Given the description of an element on the screen output the (x, y) to click on. 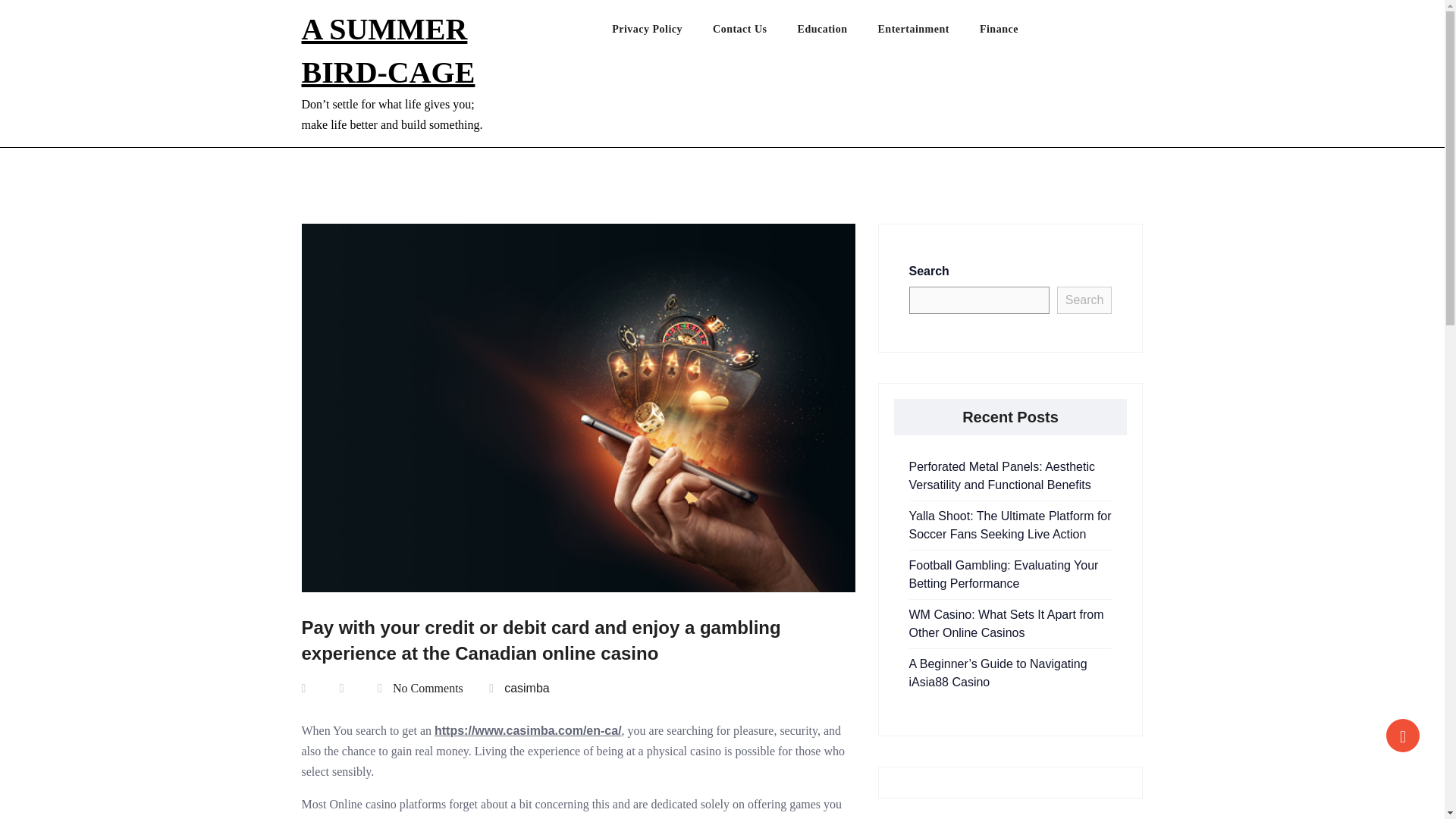
Entertainment (928, 32)
Search (1084, 299)
casimba (526, 687)
Football Gambling: Evaluating Your Betting Performance (1002, 573)
WM Casino: What Sets It Apart from Other Online Casinos (1005, 623)
Contact Us (755, 32)
Finance (1013, 32)
Education (837, 32)
Privacy Policy (662, 32)
